Given the description of an element on the screen output the (x, y) to click on. 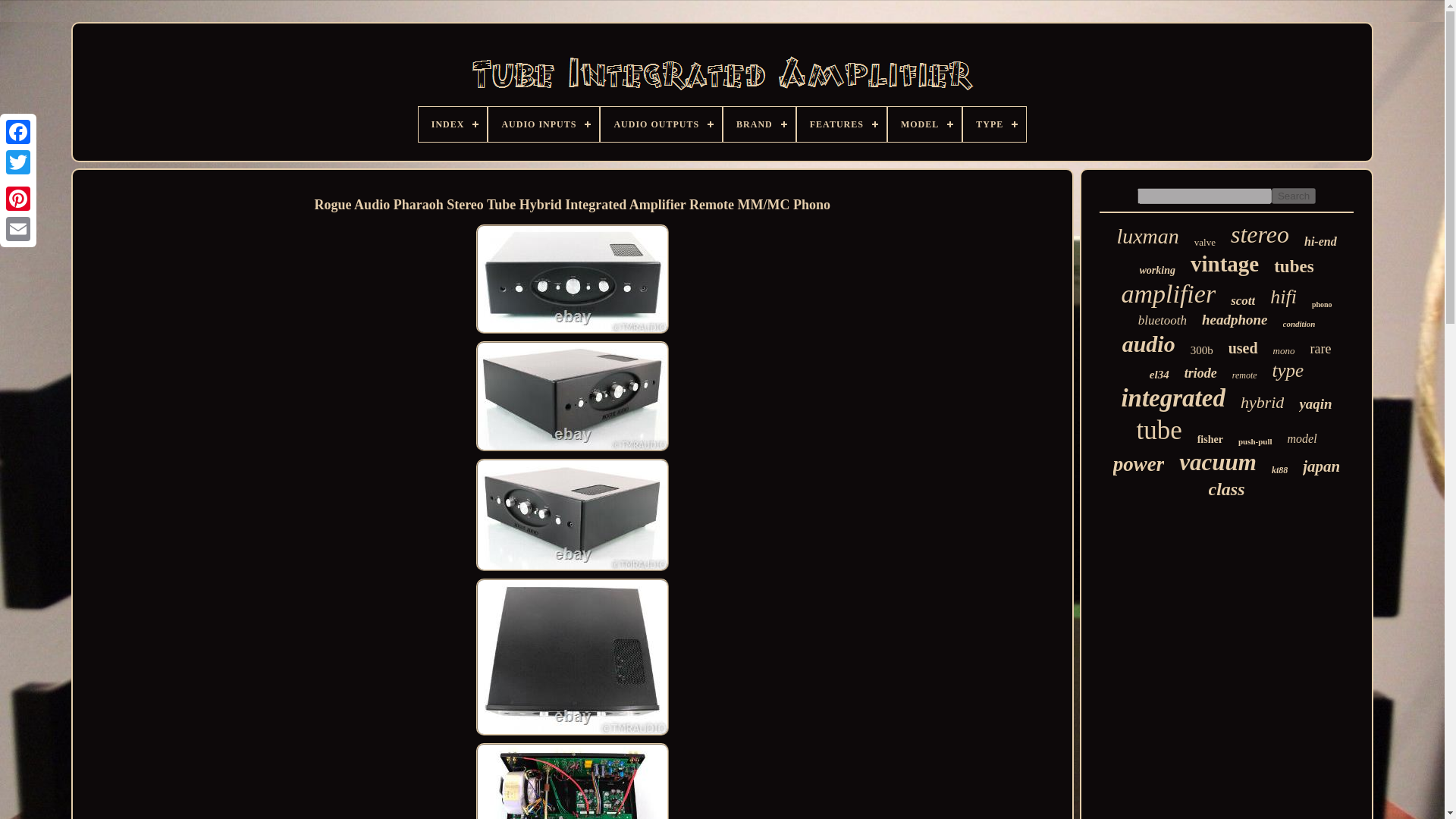
AUDIO OUTPUTS (660, 124)
INDEX (453, 124)
AUDIO INPUTS (542, 124)
Search (1293, 195)
